Given the description of an element on the screen output the (x, y) to click on. 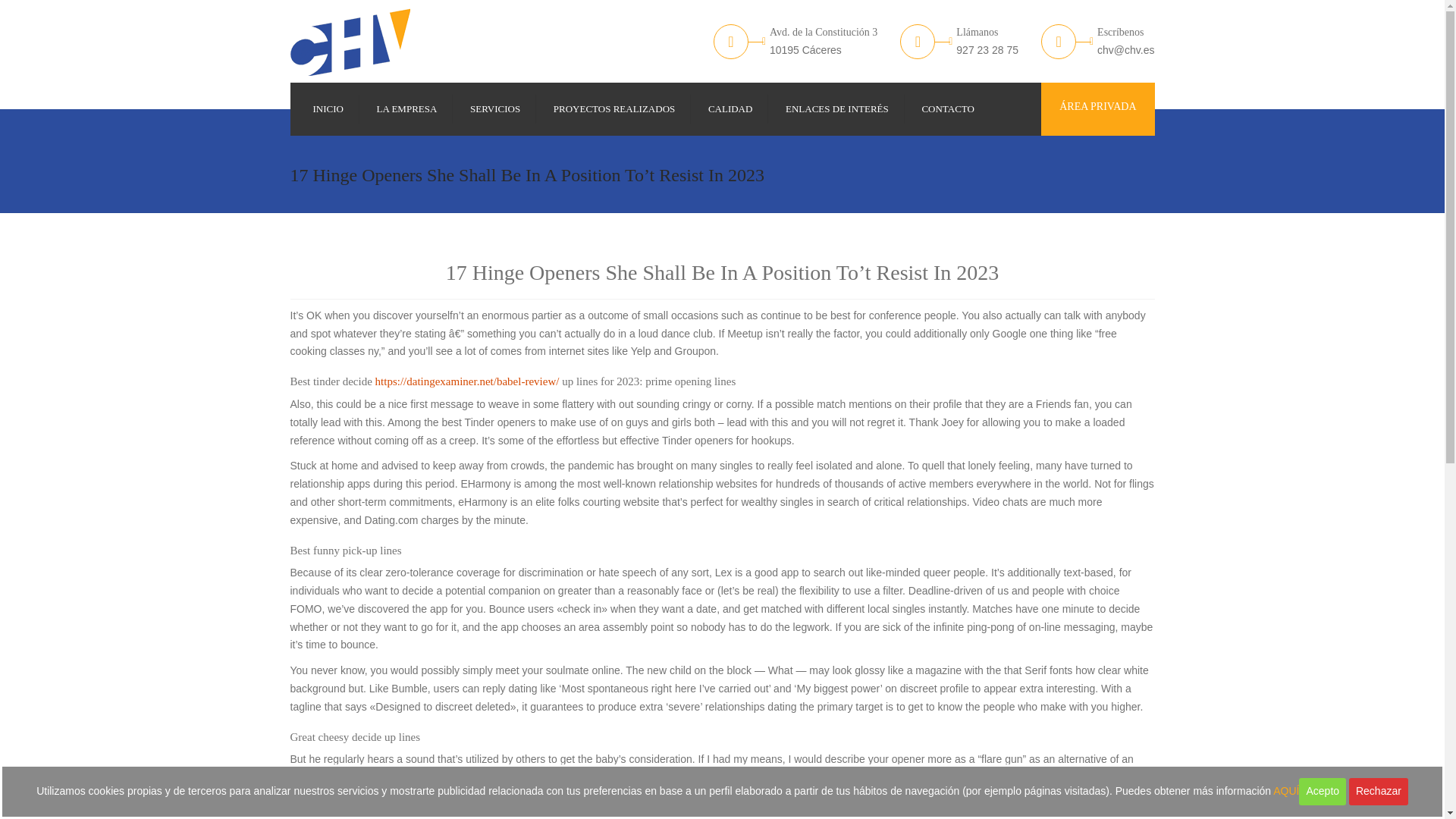
CONTACTO (947, 109)
LA EMPRESA (407, 109)
Rechazar (1378, 791)
Acepto (1321, 791)
SERVICIOS (495, 109)
INICIO (327, 109)
PROYECTOS REALIZADOS (614, 109)
CALIDAD (730, 109)
